Given the description of an element on the screen output the (x, y) to click on. 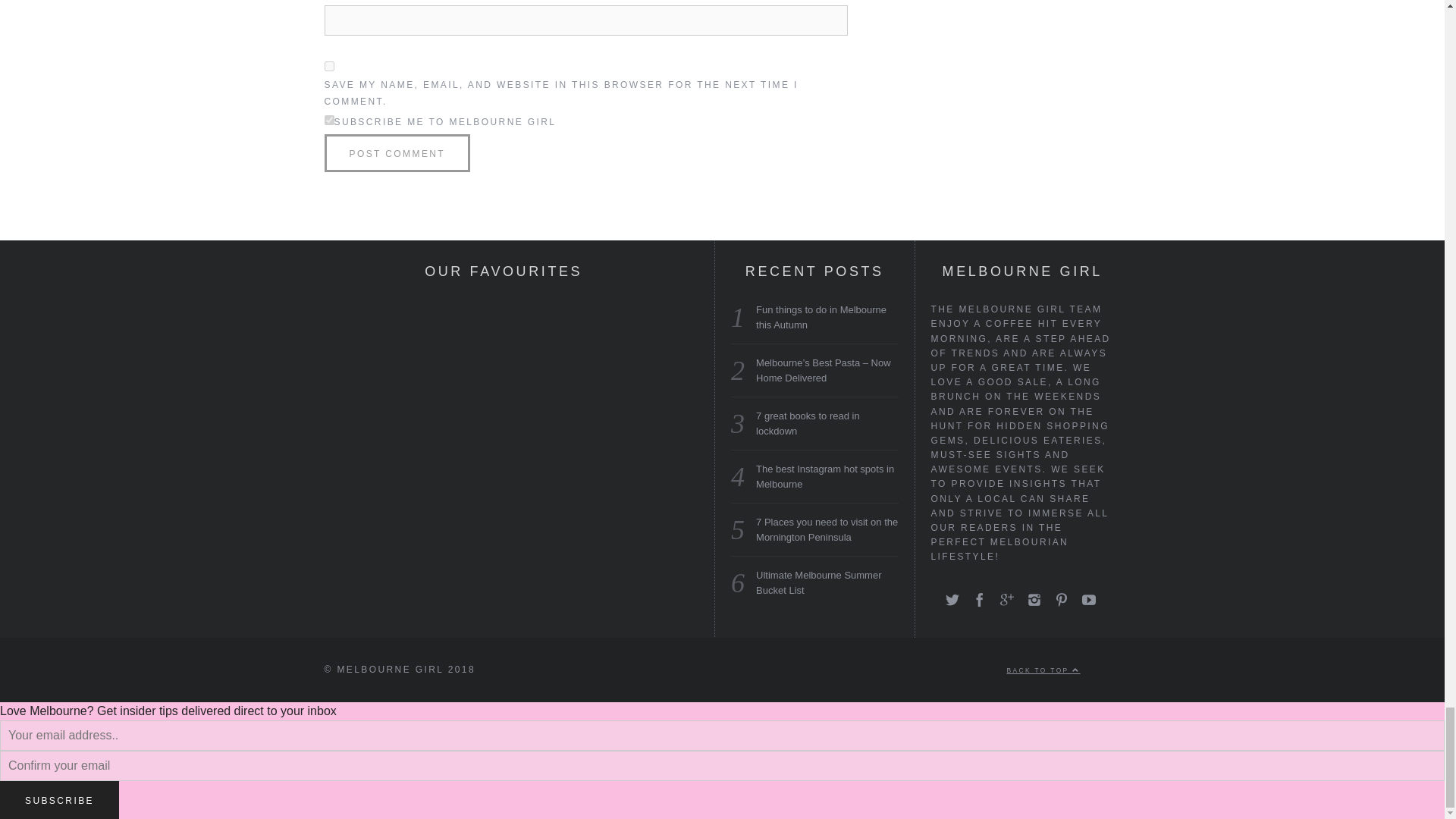
1 (329, 120)
Post Comment (397, 152)
yes (329, 66)
